Given the description of an element on the screen output the (x, y) to click on. 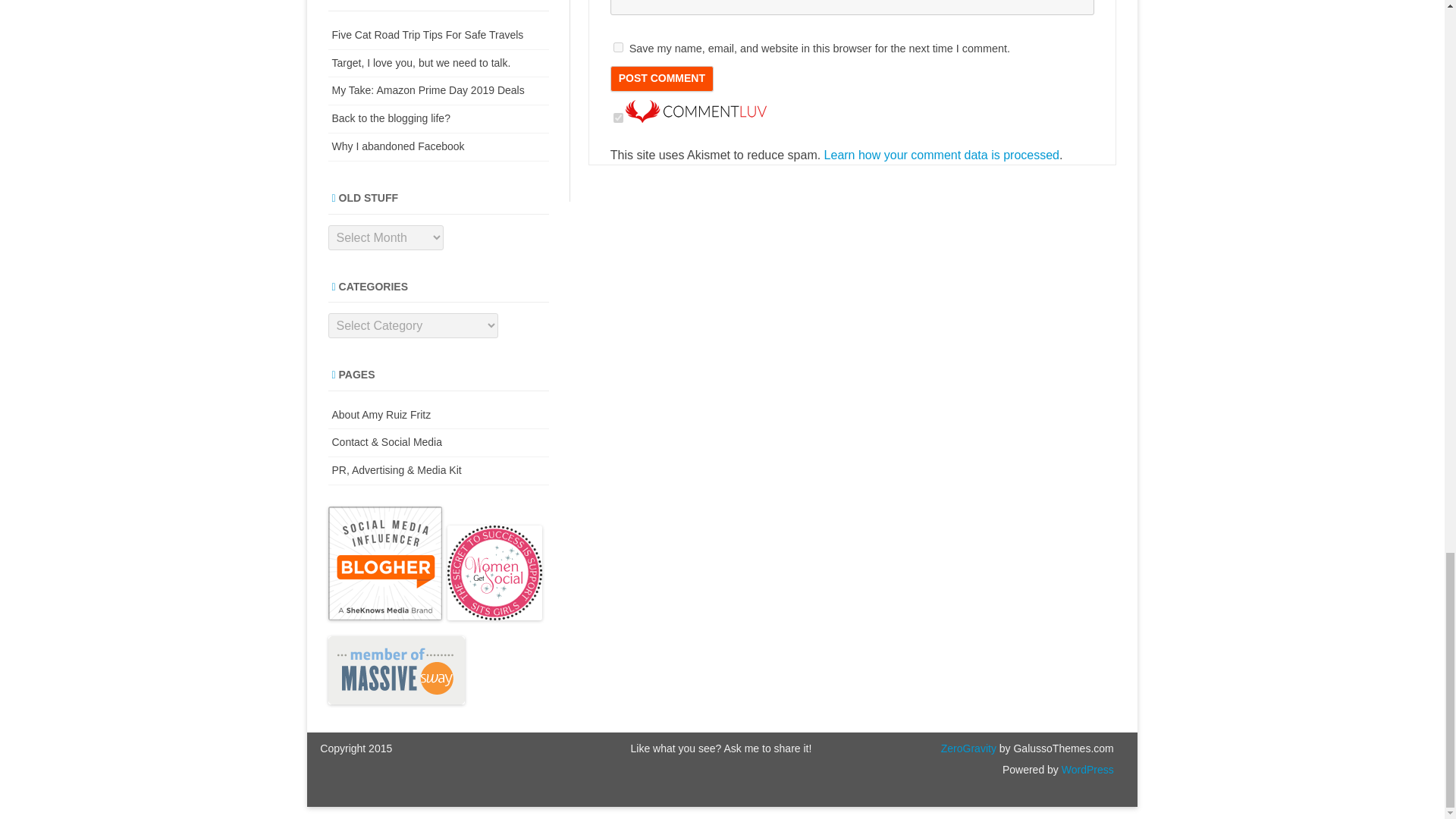
yes (617, 47)
Post Comment (661, 78)
on (617, 117)
